Given the description of an element on the screen output the (x, y) to click on. 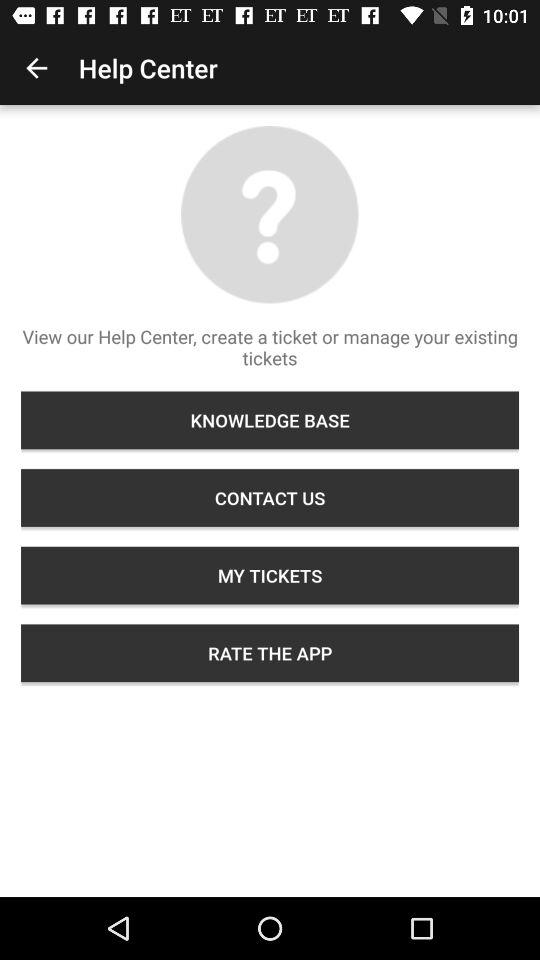
turn on the item above the my tickets (270, 497)
